Given the description of an element on the screen output the (x, y) to click on. 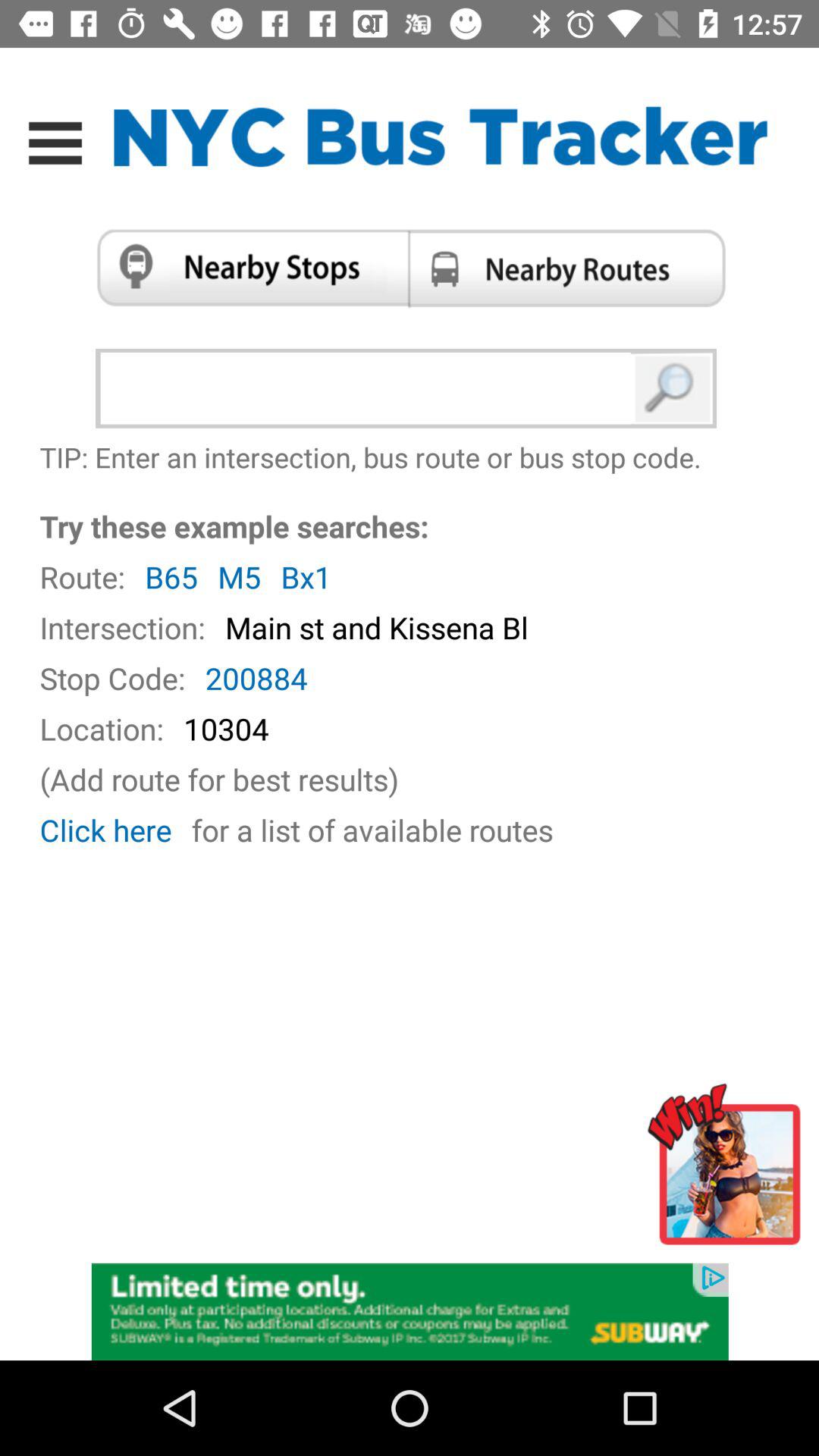
advertisement (409, 1310)
